Given the description of an element on the screen output the (x, y) to click on. 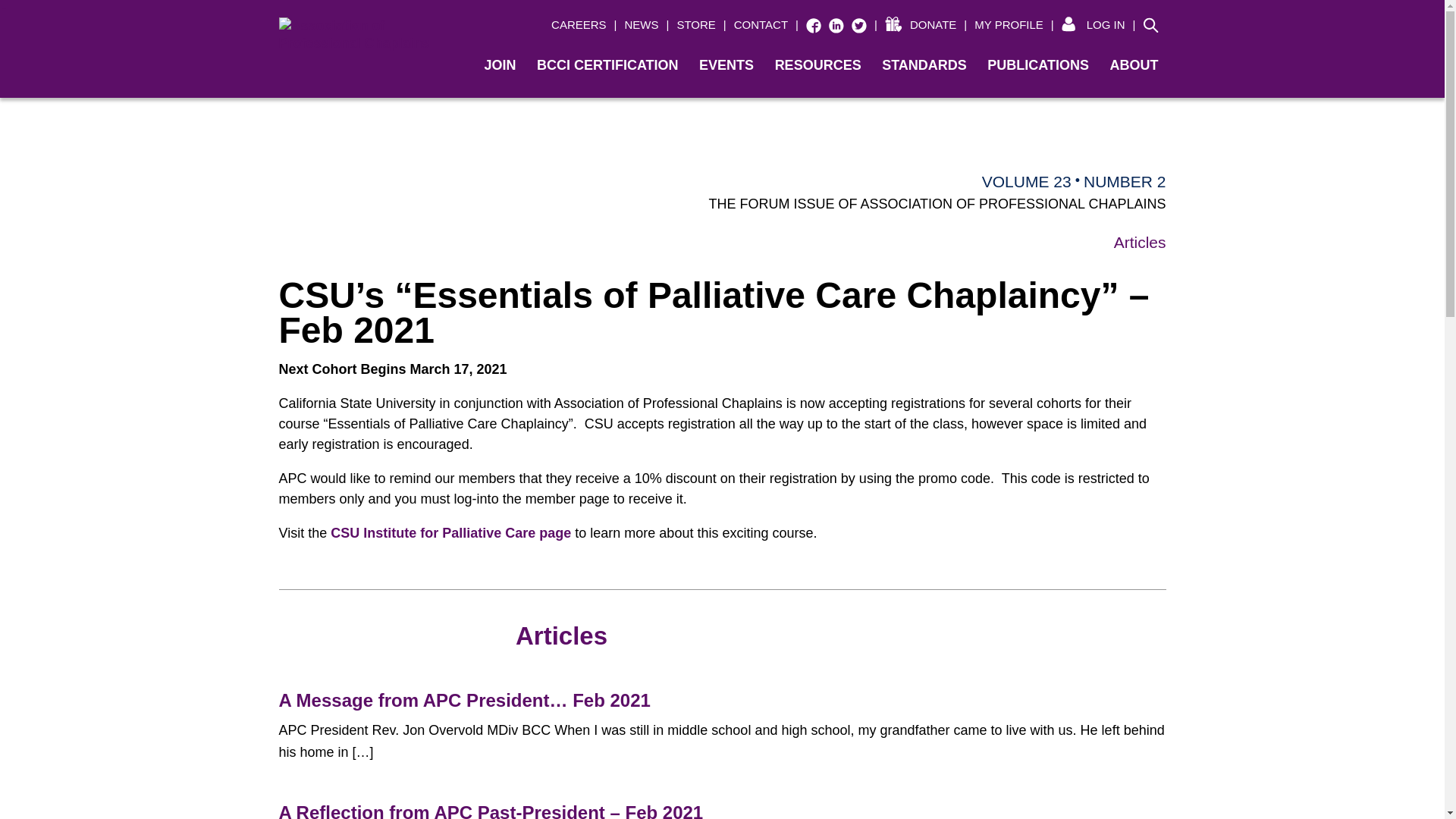
LINKEDIN (836, 24)
TWITTER (858, 24)
CAREERS (578, 25)
EVENTS (727, 65)
BCCI CERTIFICATION (608, 65)
JOIN (501, 65)
RESOURCES (818, 65)
